Given the description of an element on the screen output the (x, y) to click on. 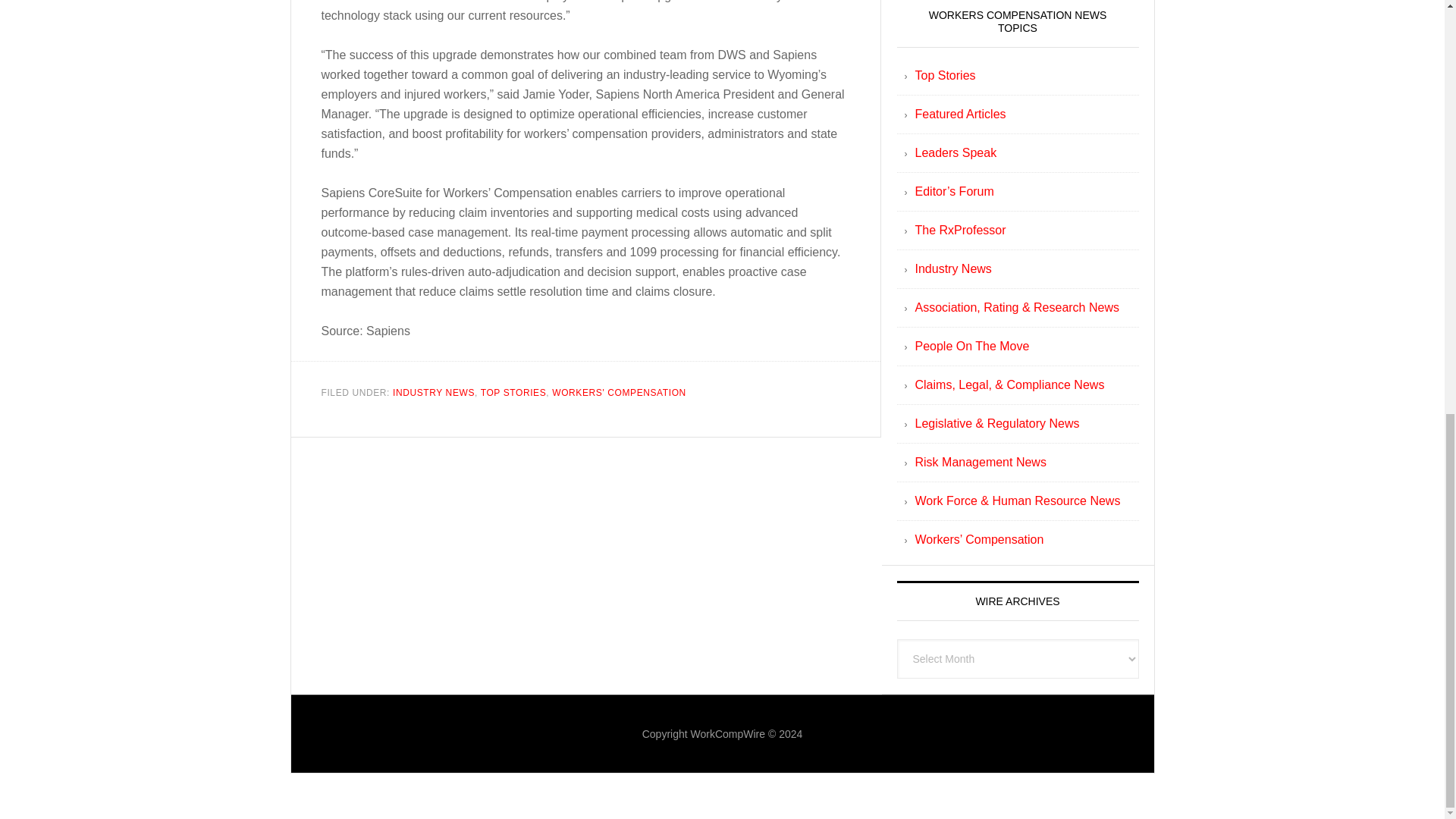
TOP STORIES (513, 391)
Top Stories (944, 74)
Featured Articles (960, 113)
Leaders Speak (954, 152)
People On The Move (971, 345)
The RxProfessor (960, 229)
INDUSTRY NEWS (433, 391)
Industry News (952, 268)
WORKERS' COMPENSATION (618, 391)
